Given the description of an element on the screen output the (x, y) to click on. 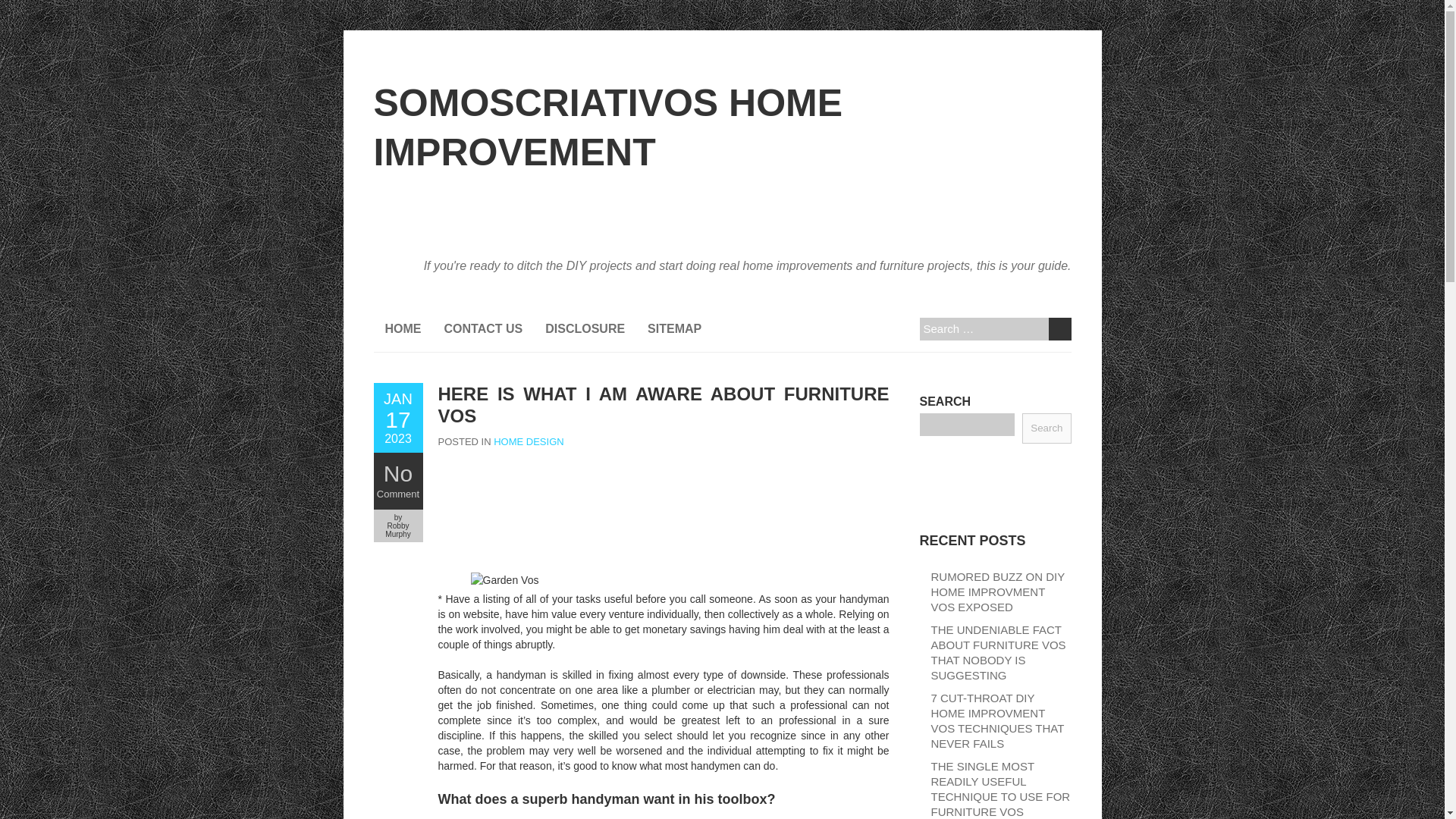
Search (1059, 328)
HOME DESIGN (528, 441)
HOME (402, 329)
SOMOSCRIATIVOS HOME IMPROVEMENT (721, 127)
Search (1059, 328)
No (397, 473)
SITEMAP (674, 329)
RUMORED BUZZ ON DIY HOME IMPROVMENT VOS EXPOSED (997, 591)
DISCLOSURE (585, 329)
Here Is What I Am Aware About Furniture Vos (397, 417)
Search (1046, 428)
CONTACT US (483, 329)
Somoscriativos Home Improvement (721, 127)
